Given the description of an element on the screen output the (x, y) to click on. 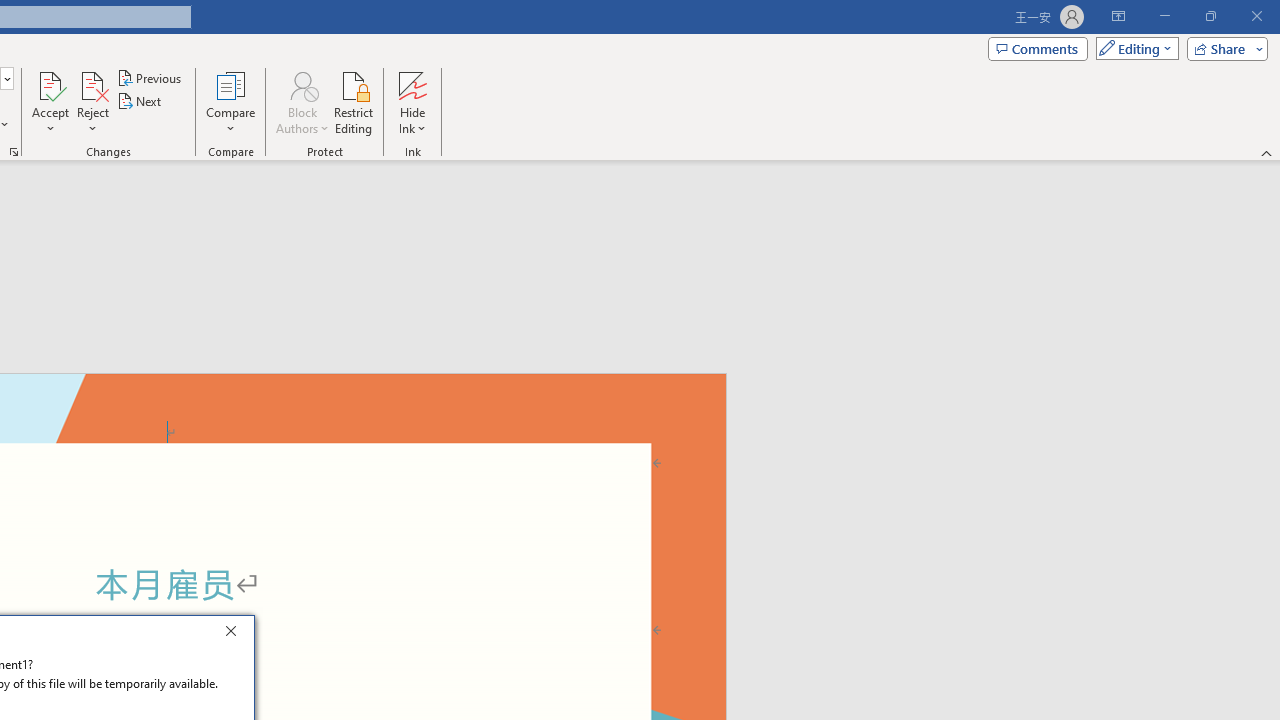
Accept (50, 102)
Change Tracking Options... (13, 151)
Accept and Move to Next (50, 84)
Block Authors (302, 102)
Next (140, 101)
Reject and Move to Next (92, 84)
Block Authors (302, 84)
Reject (92, 102)
Restrict Editing (353, 102)
